Given the description of an element on the screen output the (x, y) to click on. 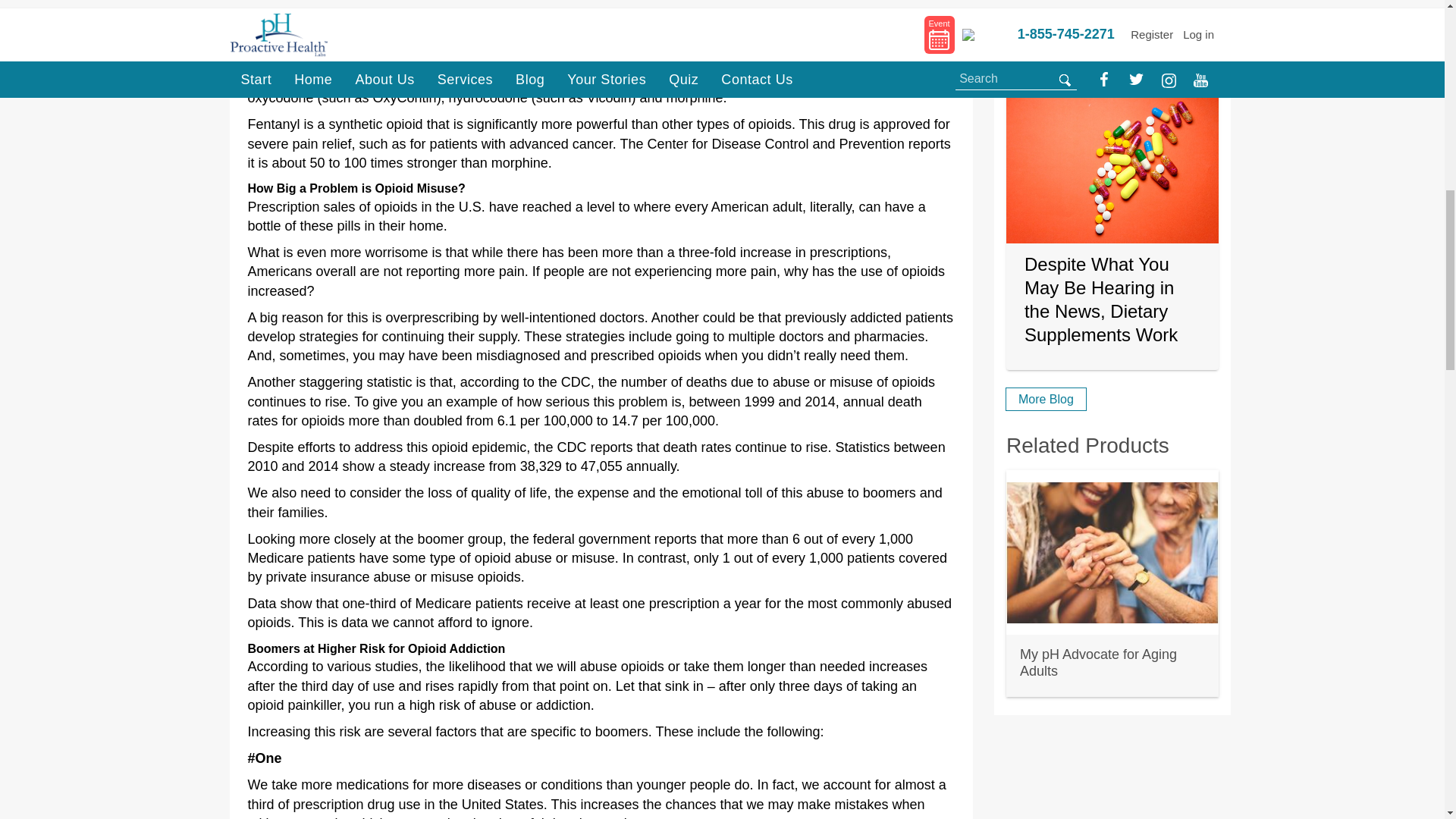
Picture of My pH Advocate for Aging Adults (1112, 552)
